Given the description of an element on the screen output the (x, y) to click on. 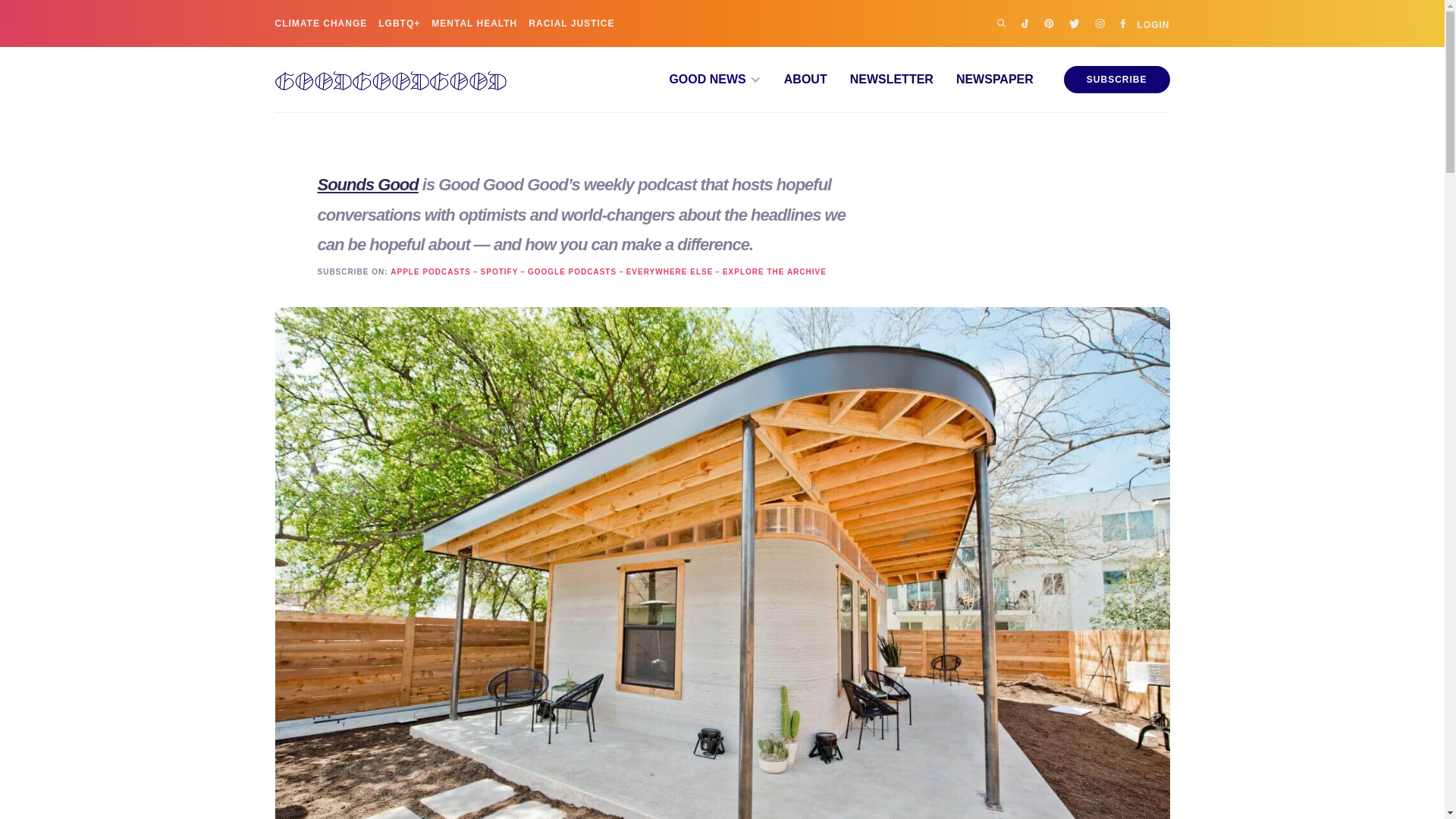
SUBSCRIBE (1117, 79)
APPLE PODCASTS (430, 271)
GOOGLE PODCASTS (571, 271)
NEWSPAPER (983, 79)
NEWSLETTER (880, 79)
SPOTIFY (499, 271)
MENTAL HEALTH (473, 22)
Sounds Good (367, 184)
CLIMATE CHANGE (320, 22)
ABOUT (794, 79)
RACIAL JUSTICE (571, 22)
LOGIN (1153, 23)
